Given the description of an element on the screen output the (x, y) to click on. 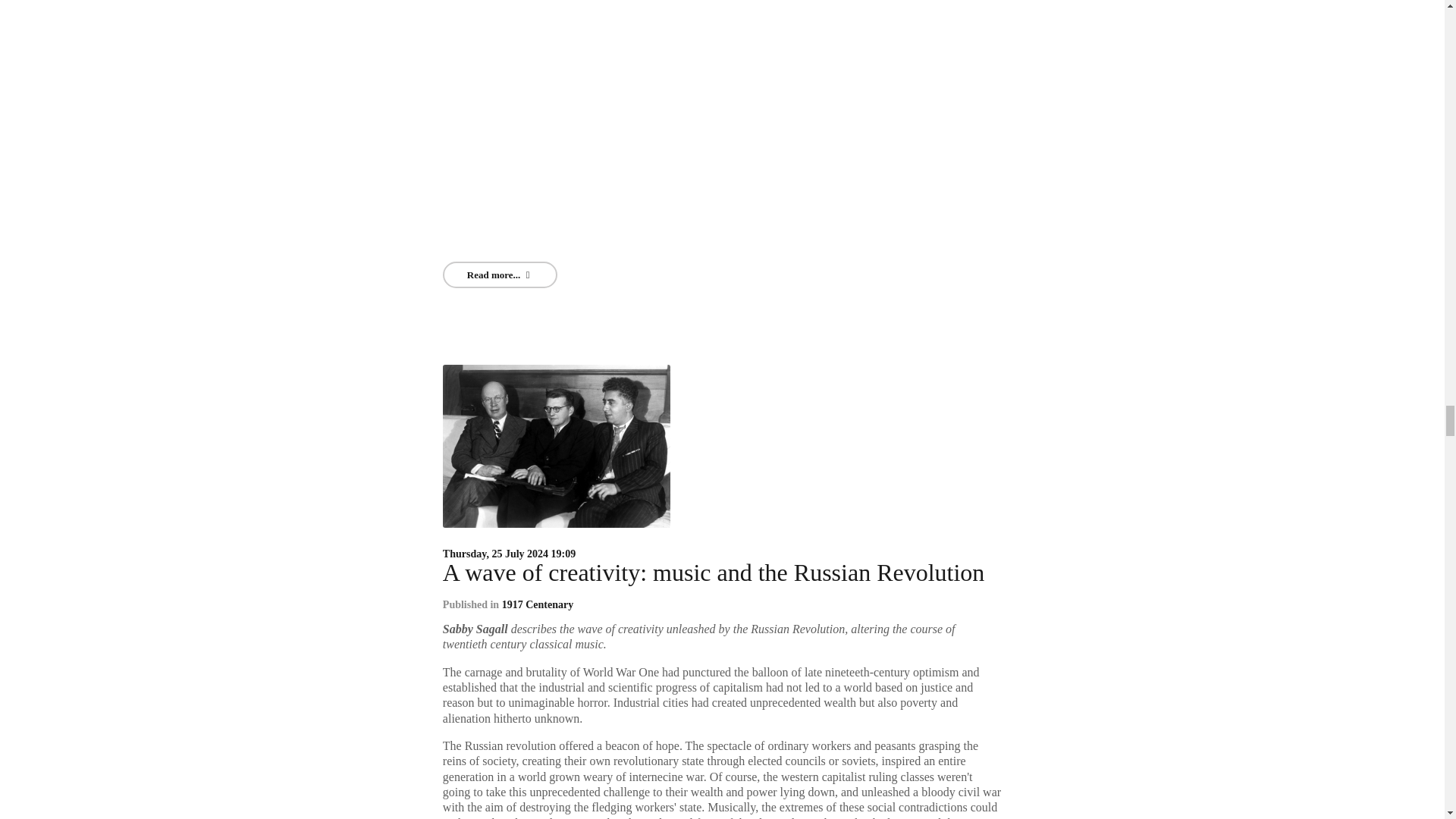
Sergei Prokofiev, Dmitri Shostakovich and Aram Khachaturian (555, 444)
